Given the description of an element on the screen output the (x, y) to click on. 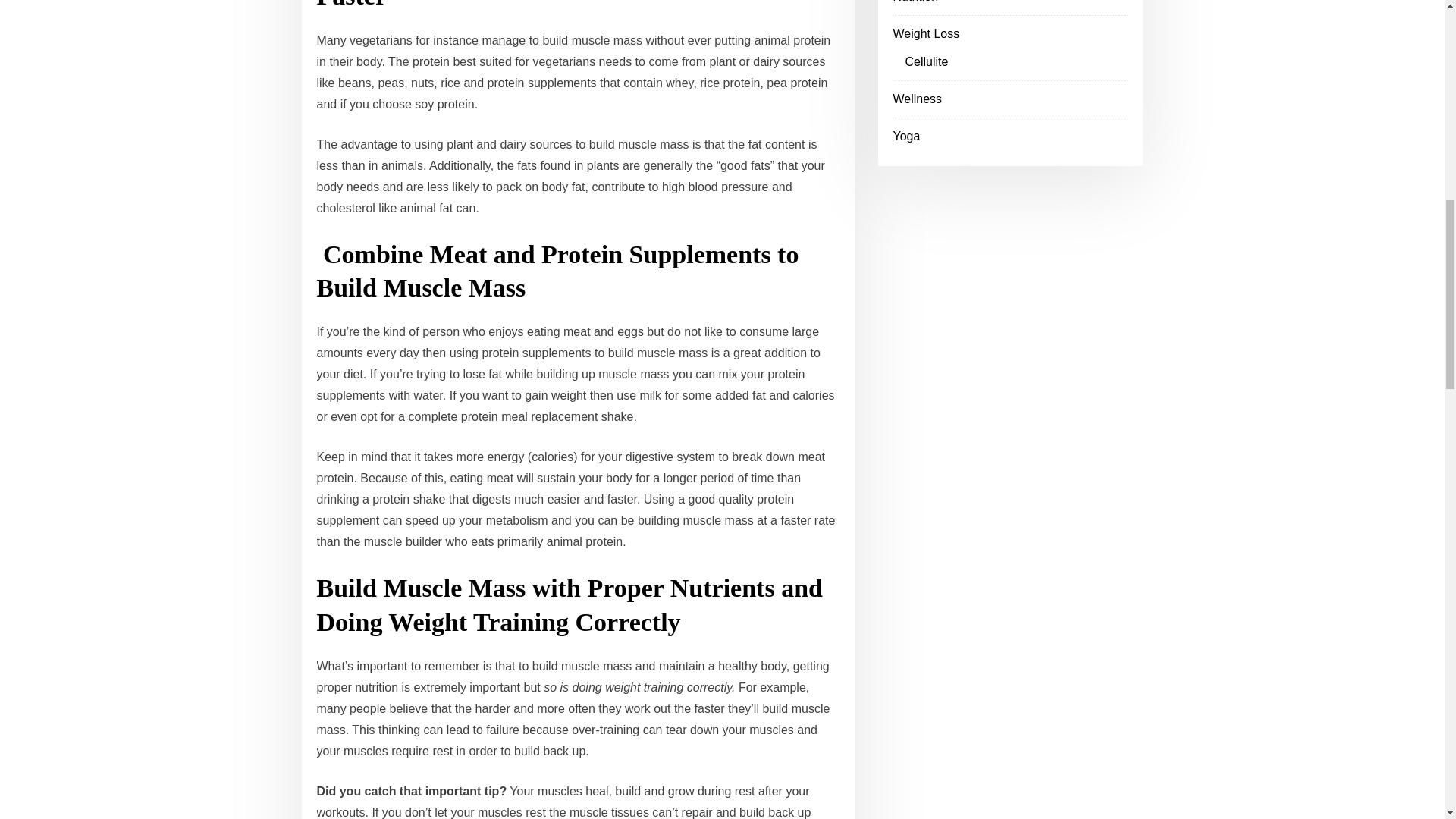
Cellulite (927, 61)
Weight Loss (926, 33)
Wellness (917, 98)
Nutrition (916, 1)
Yoga (906, 135)
